Given the description of an element on the screen output the (x, y) to click on. 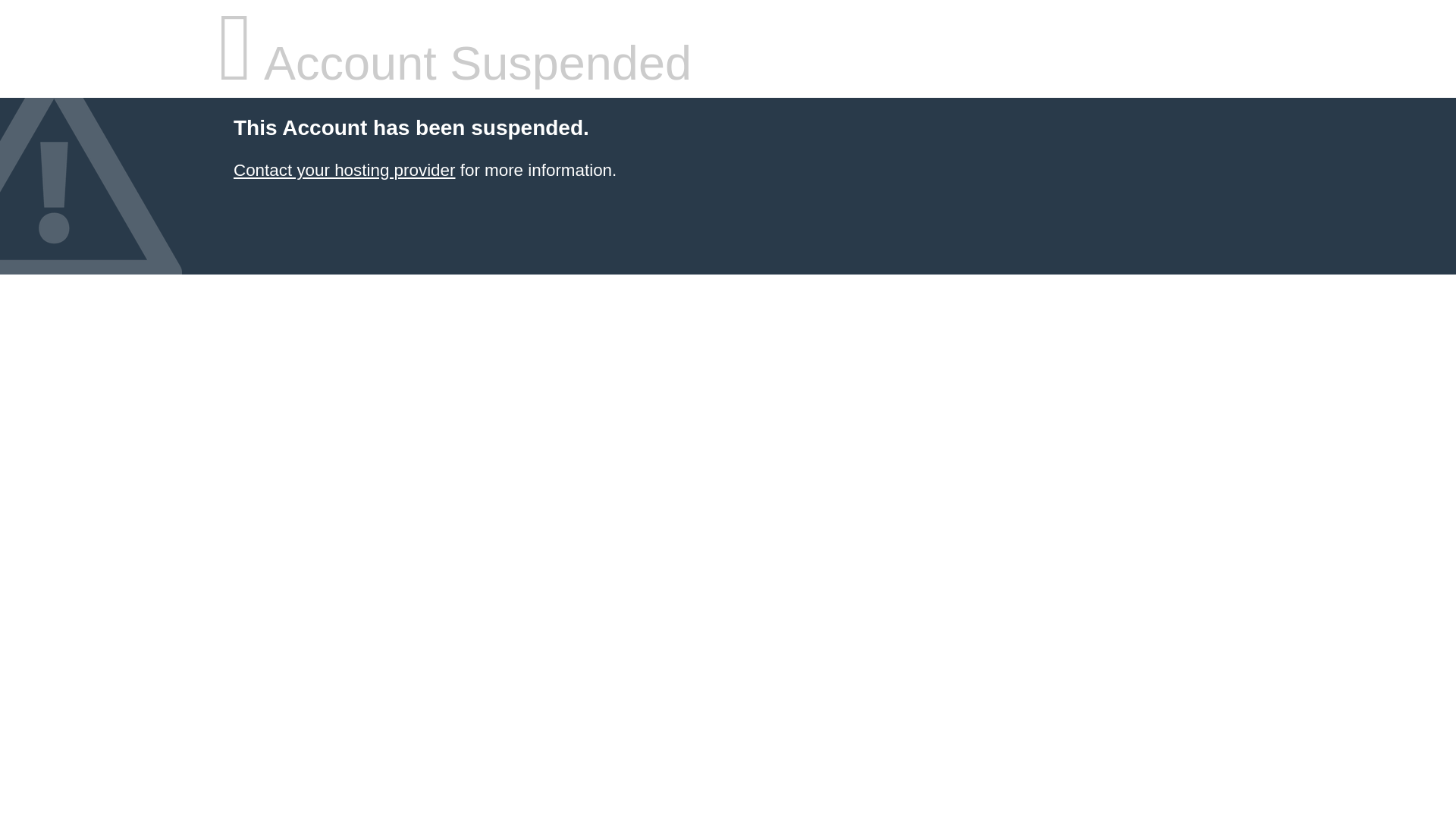
Contact your hosting provider (343, 169)
